Given the description of an element on the screen output the (x, y) to click on. 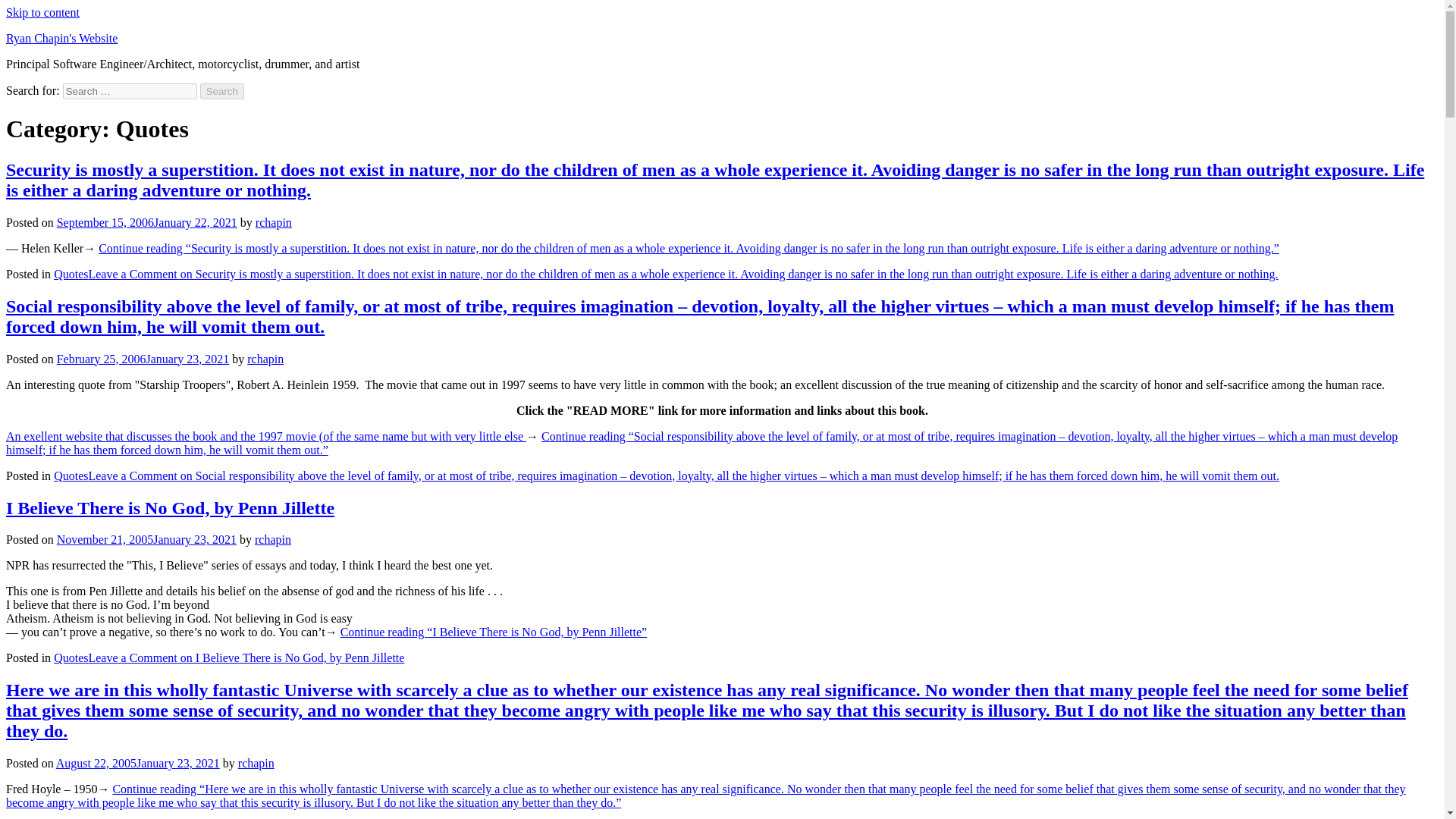
Ryan Chapin's Website (61, 38)
rchapin (256, 762)
November 21, 2005January 23, 2021 (145, 539)
Skip to content (42, 11)
Quotes (70, 475)
rchapin (265, 358)
August 22, 2005January 23, 2021 (137, 762)
I Believe There is No God, by Penn Jillette (169, 506)
Search (222, 91)
rchapin (272, 539)
February 25, 2006January 23, 2021 (143, 358)
September 15, 2006January 22, 2021 (146, 222)
rchapin (274, 222)
